Given the description of an element on the screen output the (x, y) to click on. 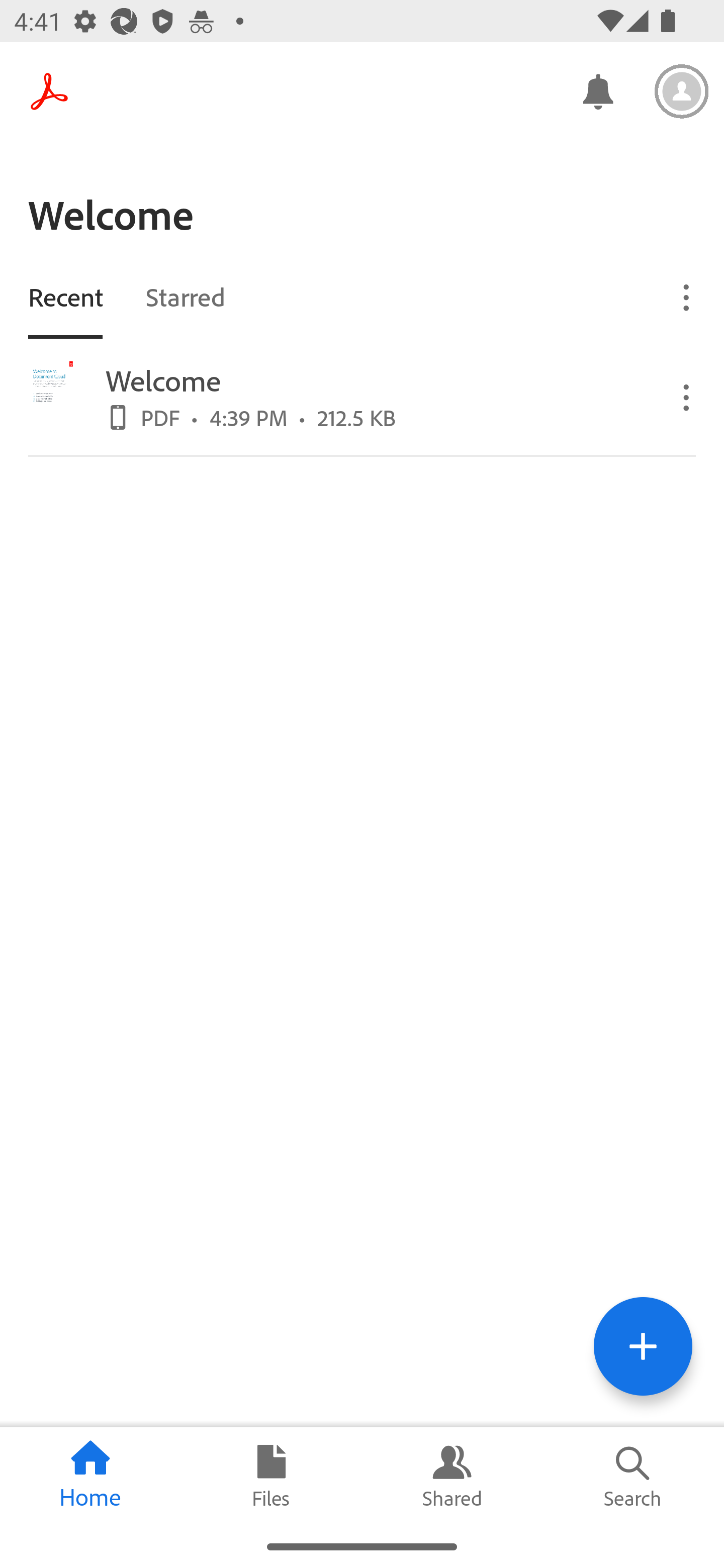
Notifications (597, 90)
Settings (681, 91)
Recent (65, 296)
Starred (185, 296)
Overflow (687, 296)
Overflow (687, 396)
Tools (642, 1345)
Home (90, 1475)
Files (271, 1475)
Shared (452, 1475)
Search (633, 1475)
